Given the description of an element on the screen output the (x, y) to click on. 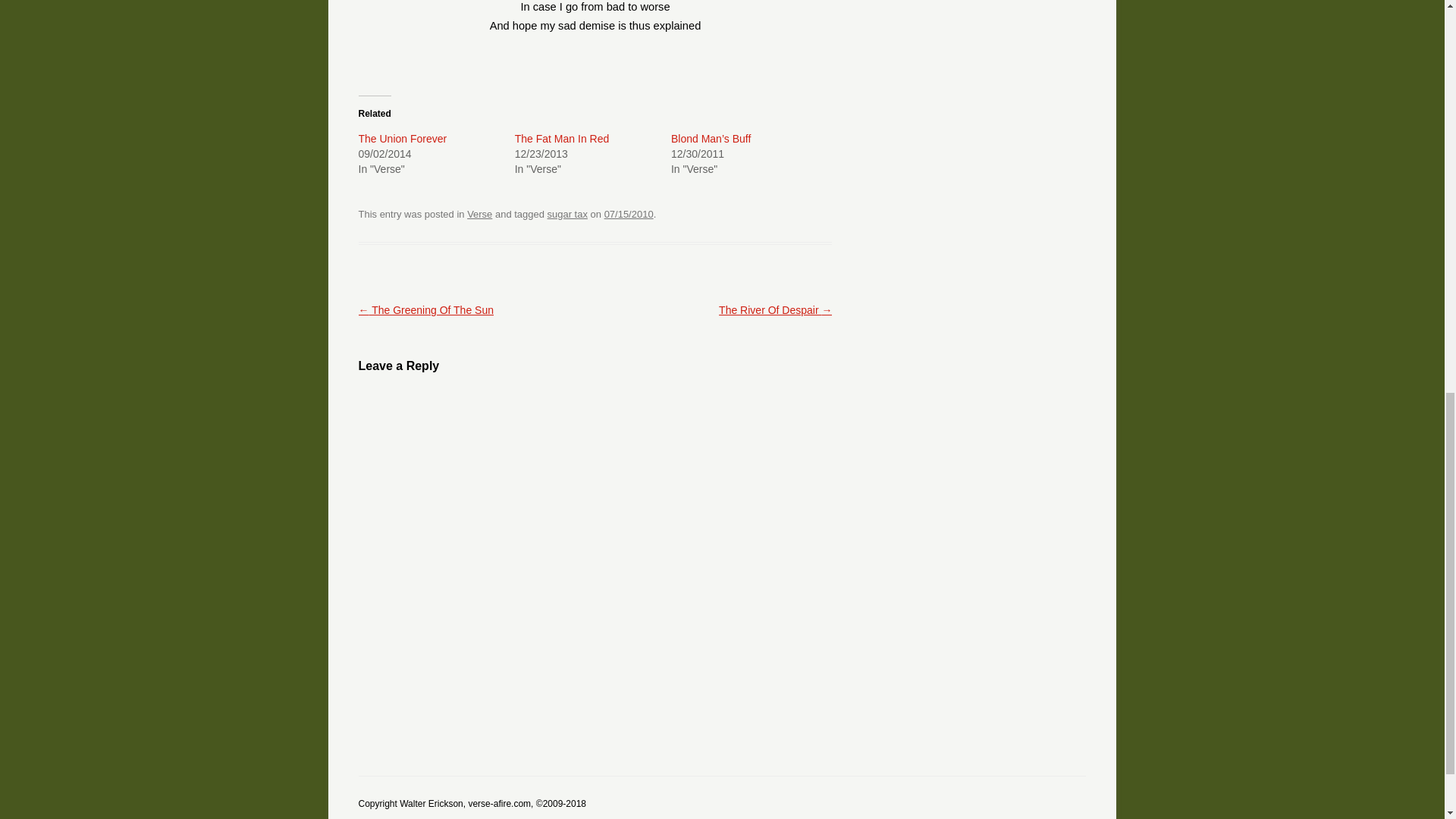
The Union Forever (402, 138)
12:19 am (628, 214)
Verse (479, 214)
The Union Forever (402, 138)
The Fat Man In Red (562, 138)
sugar tax (567, 214)
The Fat Man In Red (562, 138)
